Given the description of an element on the screen output the (x, y) to click on. 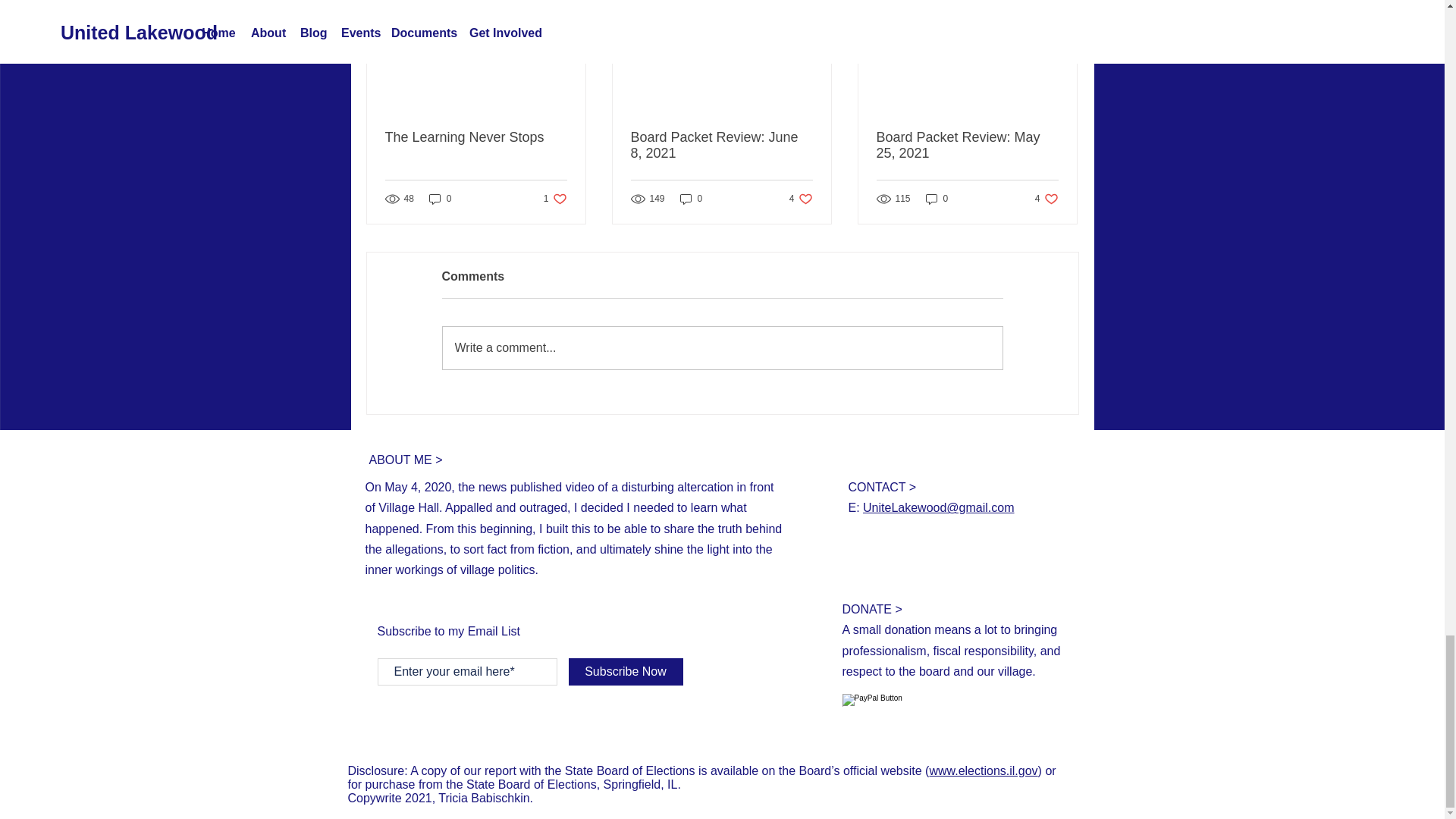
The Learning Never Stops (476, 137)
0 (937, 198)
Board Packet Review: June 8, 2021 (721, 145)
Subscribe Now (625, 671)
Write a comment... (555, 198)
Board Packet Review: May 25, 2021 (1046, 198)
0 (722, 347)
0 (800, 198)
